Given the description of an element on the screen output the (x, y) to click on. 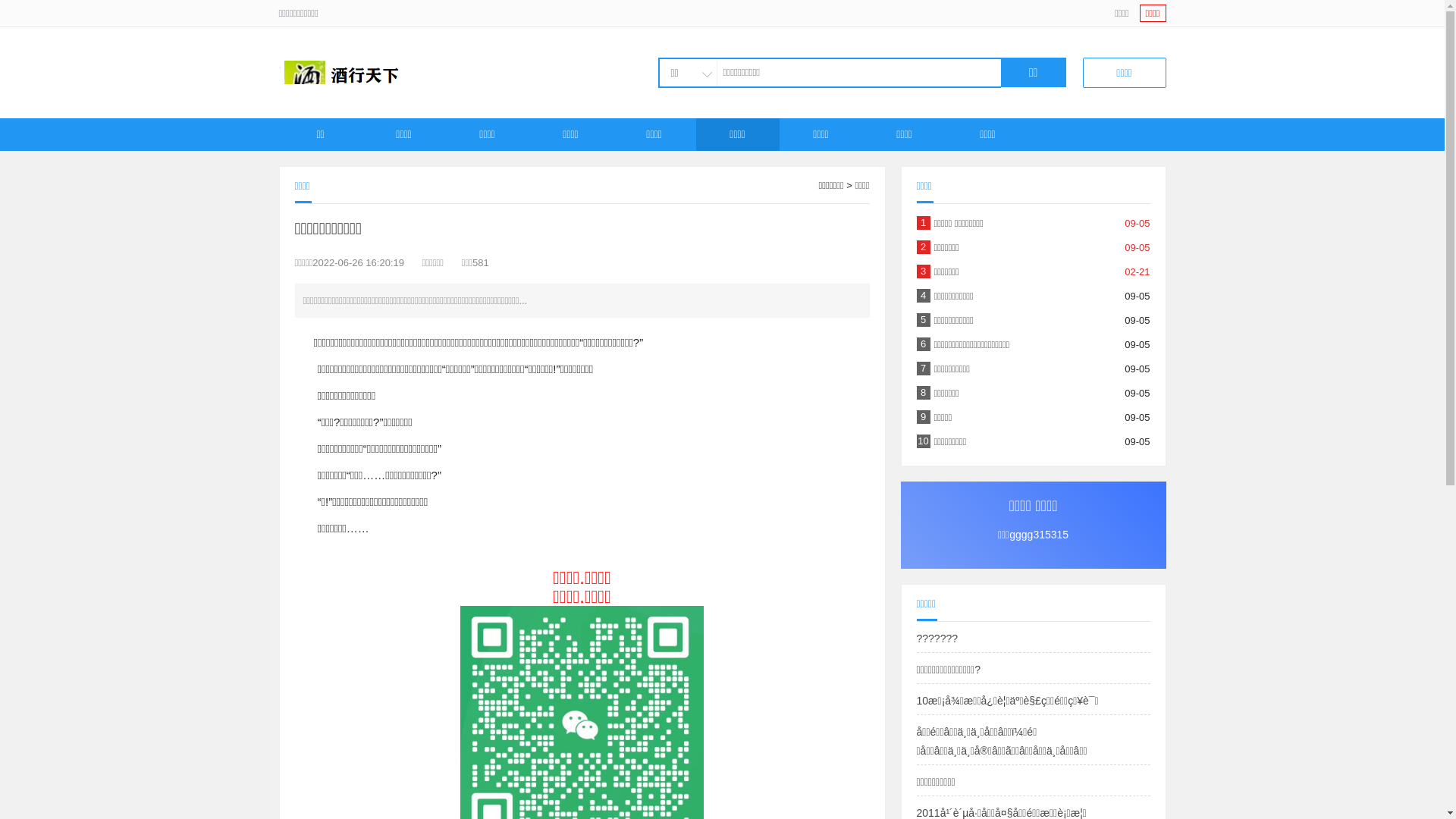
??????? Element type: text (936, 638)
